Given the description of an element on the screen output the (x, y) to click on. 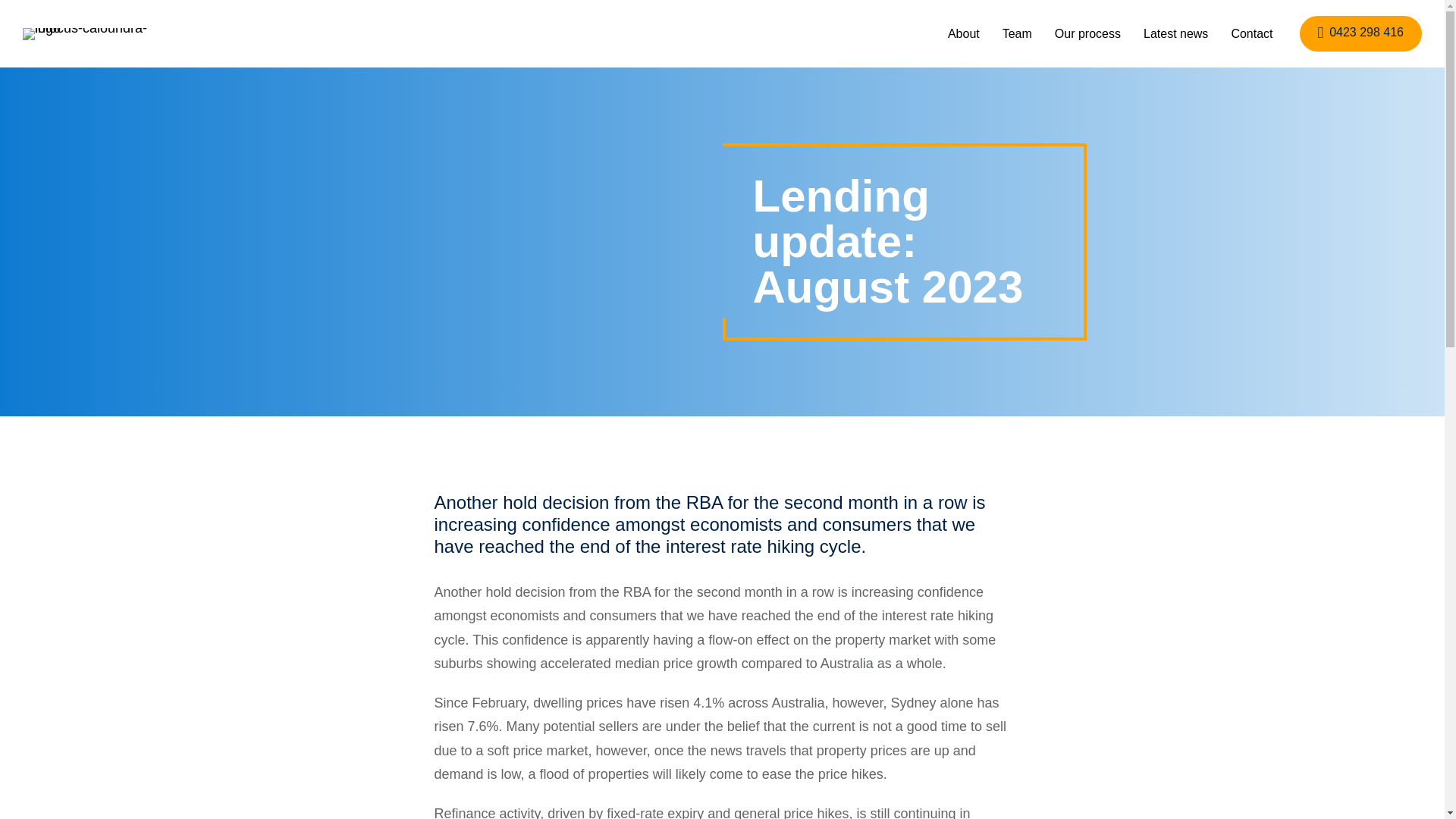
About (963, 33)
0423 298 416 (1361, 33)
Our process (1087, 33)
Contact (1252, 33)
infocus-caloundra-logo (90, 33)
Latest news (1176, 33)
Click Here (1361, 33)
Team (1017, 33)
